Given the description of an element on the screen output the (x, y) to click on. 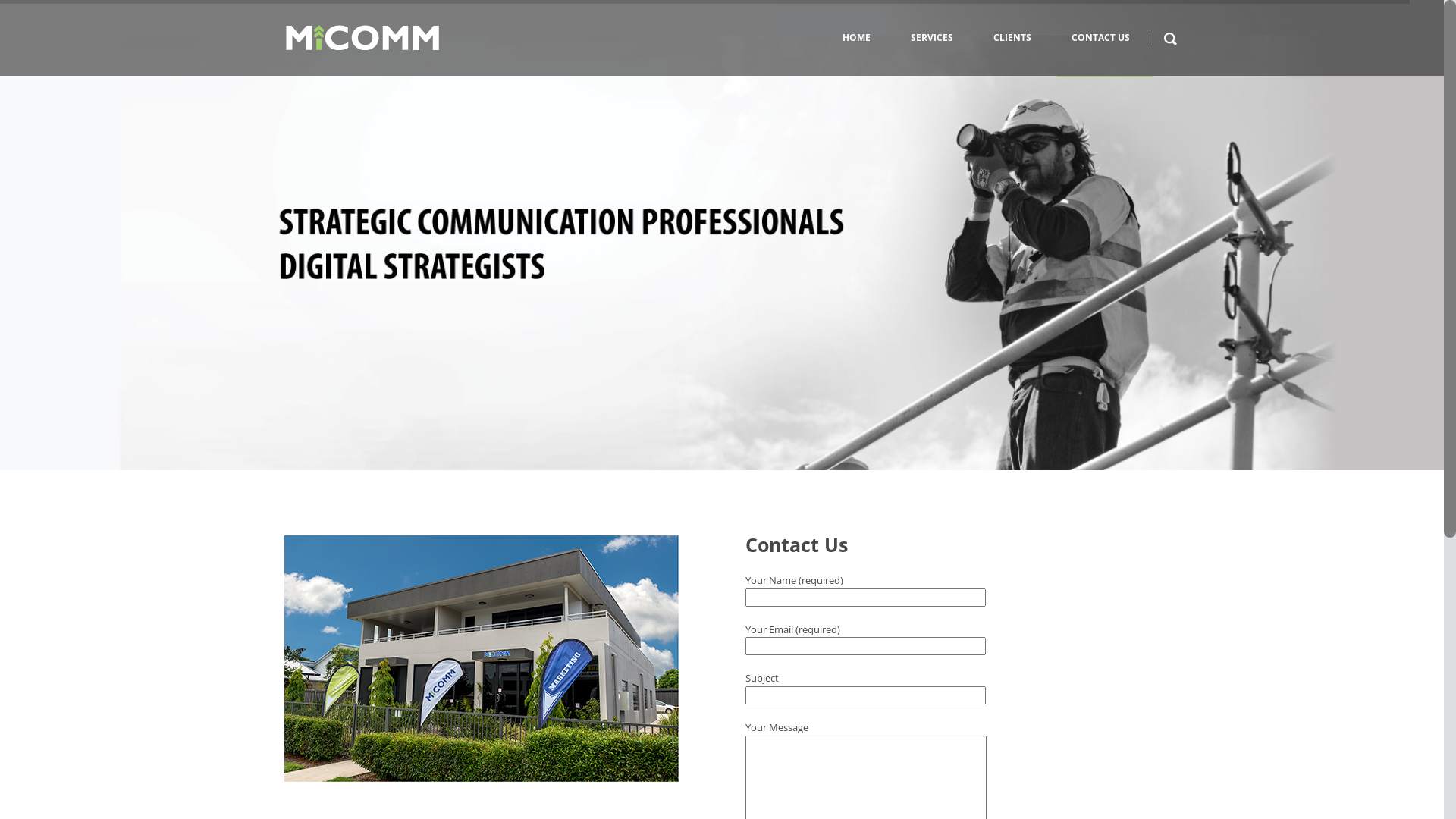
CLIENTS Element type: text (1016, 37)
SERVICES Element type: text (935, 37)
HOME Element type: text (860, 37)
MICOMM Element type: hover (362, 37)
CONTACT US Element type: text (1104, 37)
